Given the description of an element on the screen output the (x, y) to click on. 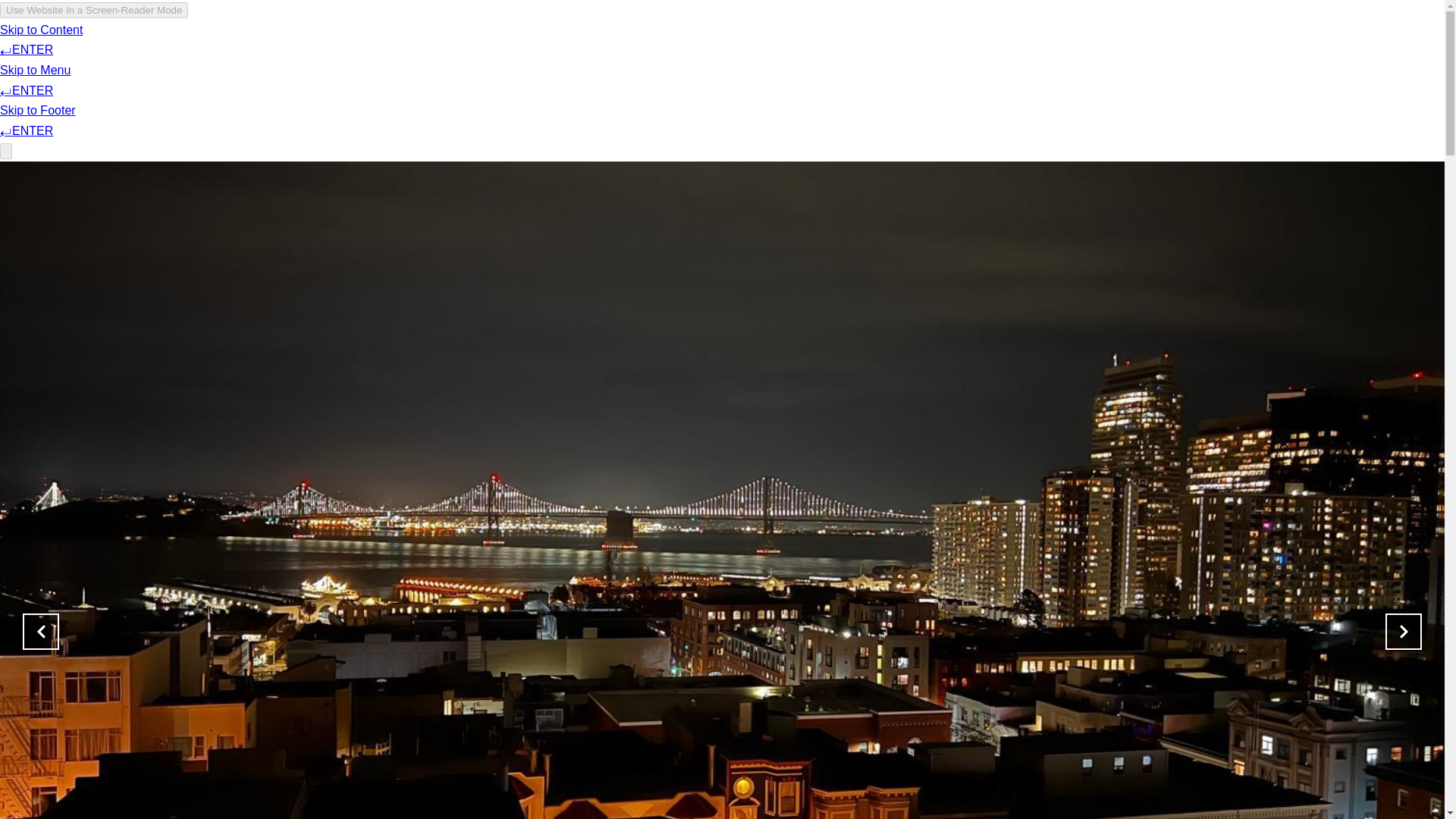
CONTACT US (1157, 55)
MEET THE TEAM (1053, 55)
